Given the description of an element on the screen output the (x, y) to click on. 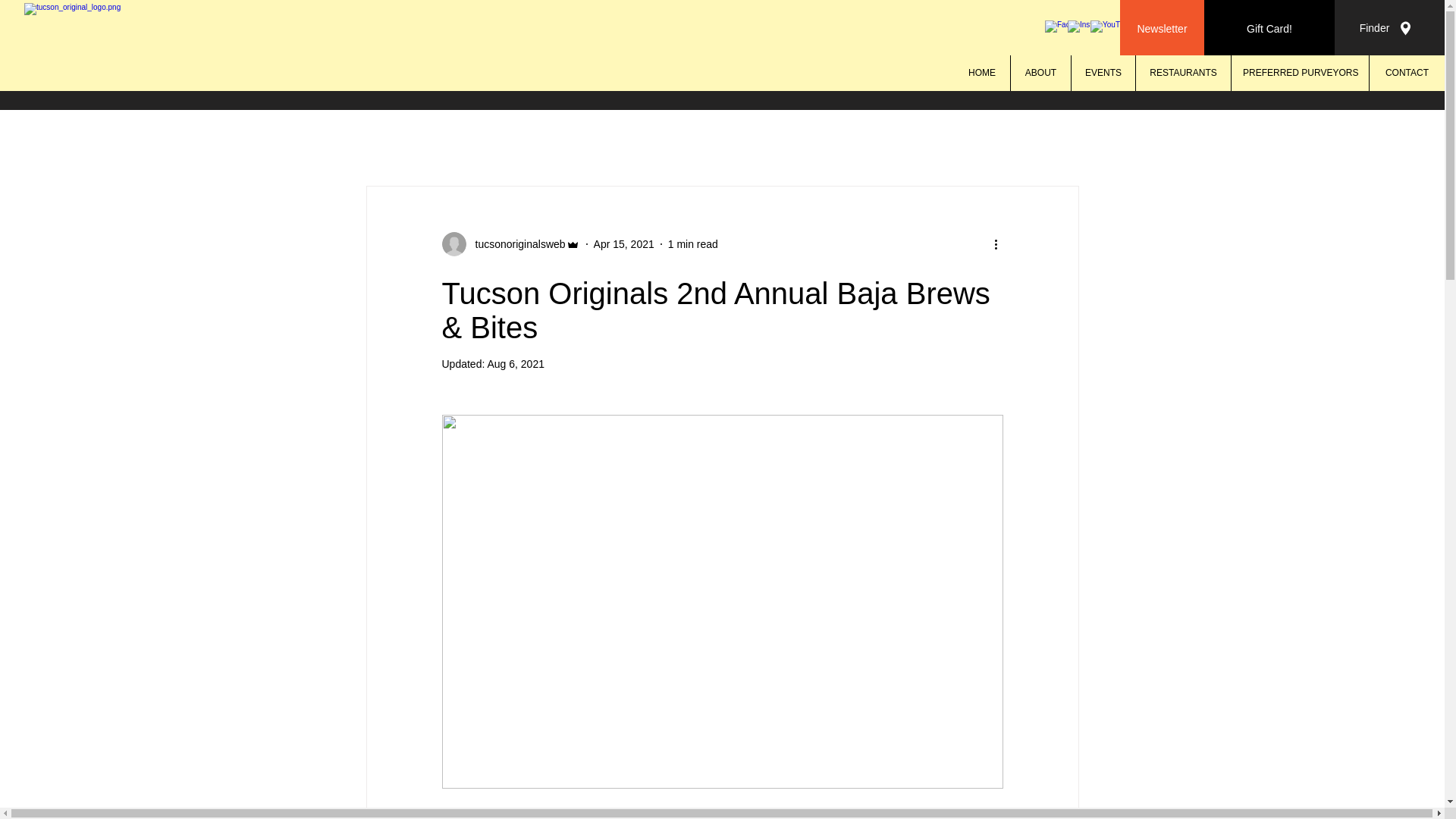
PREFERRED PURVEYORS (1299, 72)
Apr 15, 2021 (623, 244)
Finder (1374, 28)
ABOUT (1040, 72)
RESTAURANTS (1182, 72)
EVENTS (1102, 72)
tucsonoriginalsweb (514, 244)
tucsonoriginalsweb (510, 243)
Aug 6, 2021 (515, 363)
CONTACT (1406, 72)
Newsletter (1161, 29)
1 min read (692, 244)
HOME (981, 72)
Gift Card! (1269, 29)
